Given the description of an element on the screen output the (x, y) to click on. 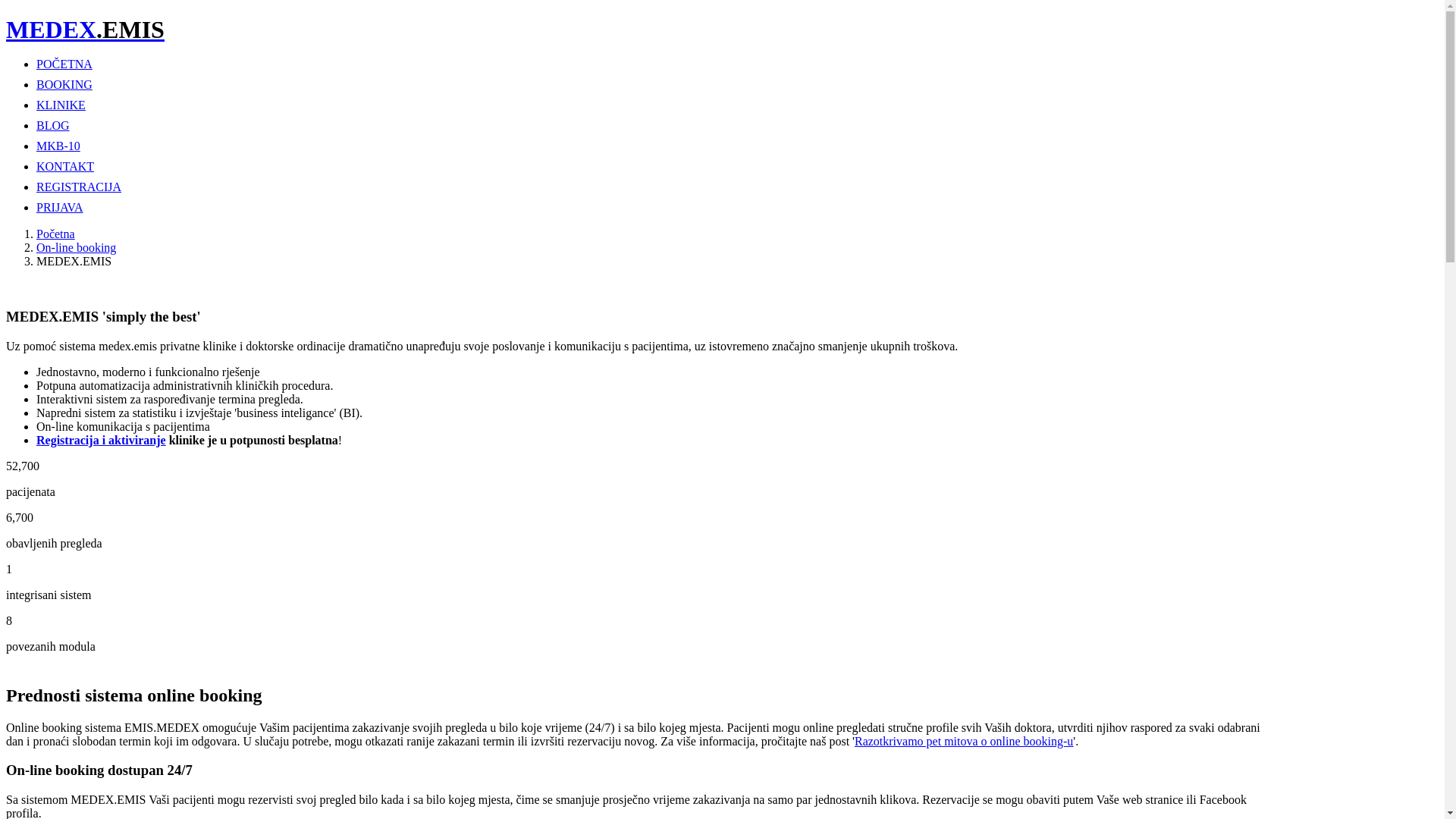
KLINIKE Element type: text (60, 104)
On-line booking Element type: text (76, 247)
BLOG Element type: text (52, 125)
Registracija i aktiviranje Element type: text (101, 439)
REGISTRACIJA Element type: text (78, 186)
Razotkrivamo pet mitova o online booking-u Element type: text (963, 740)
MEDEX.EMIS Element type: text (85, 29)
BOOKING Element type: text (64, 84)
KONTAKT Element type: text (65, 166)
MKB-10 Element type: text (58, 145)
PRIJAVA Element type: text (59, 206)
